Given the description of an element on the screen output the (x, y) to click on. 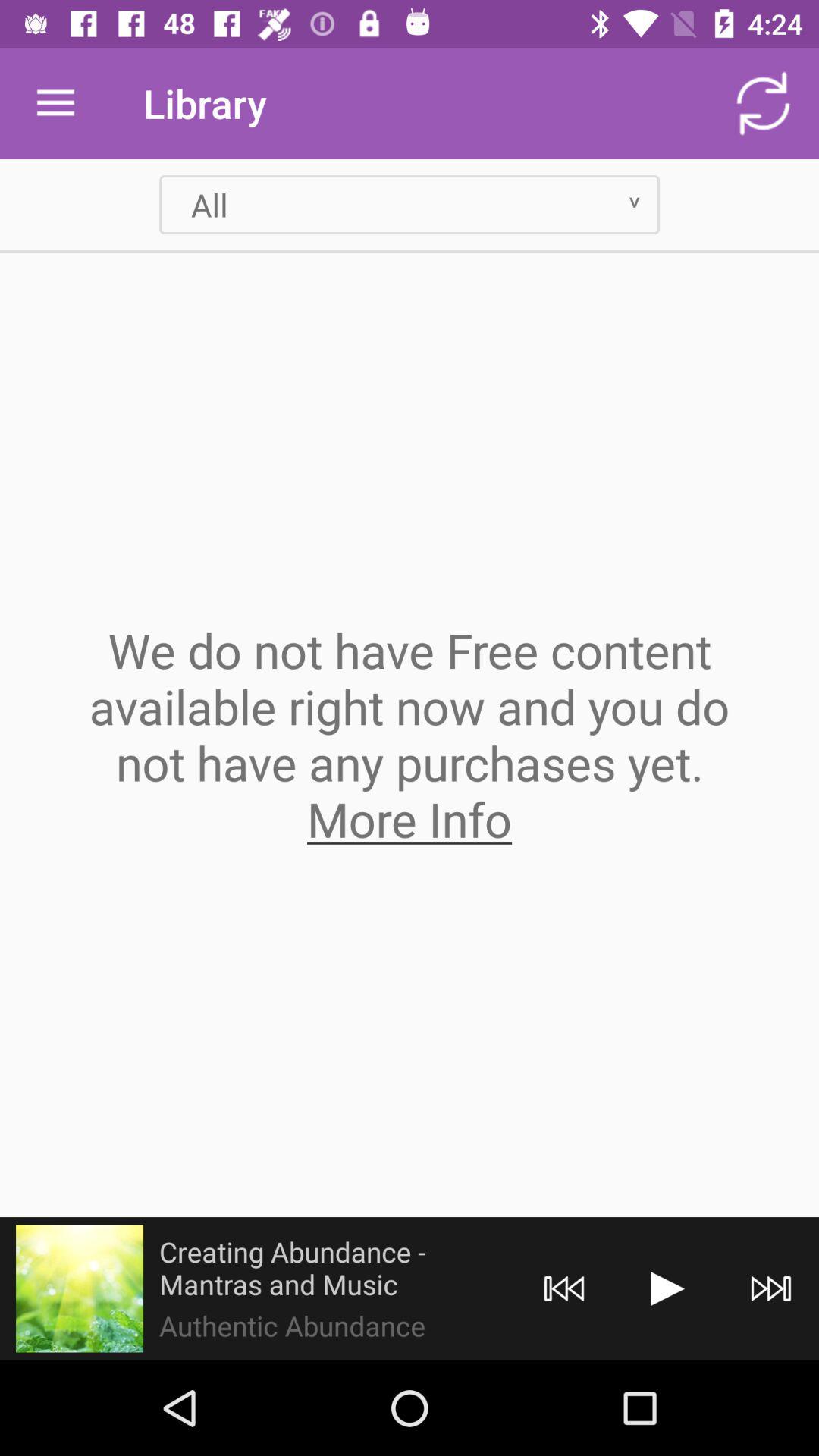
open item to the left of library icon (55, 103)
